Given the description of an element on the screen output the (x, y) to click on. 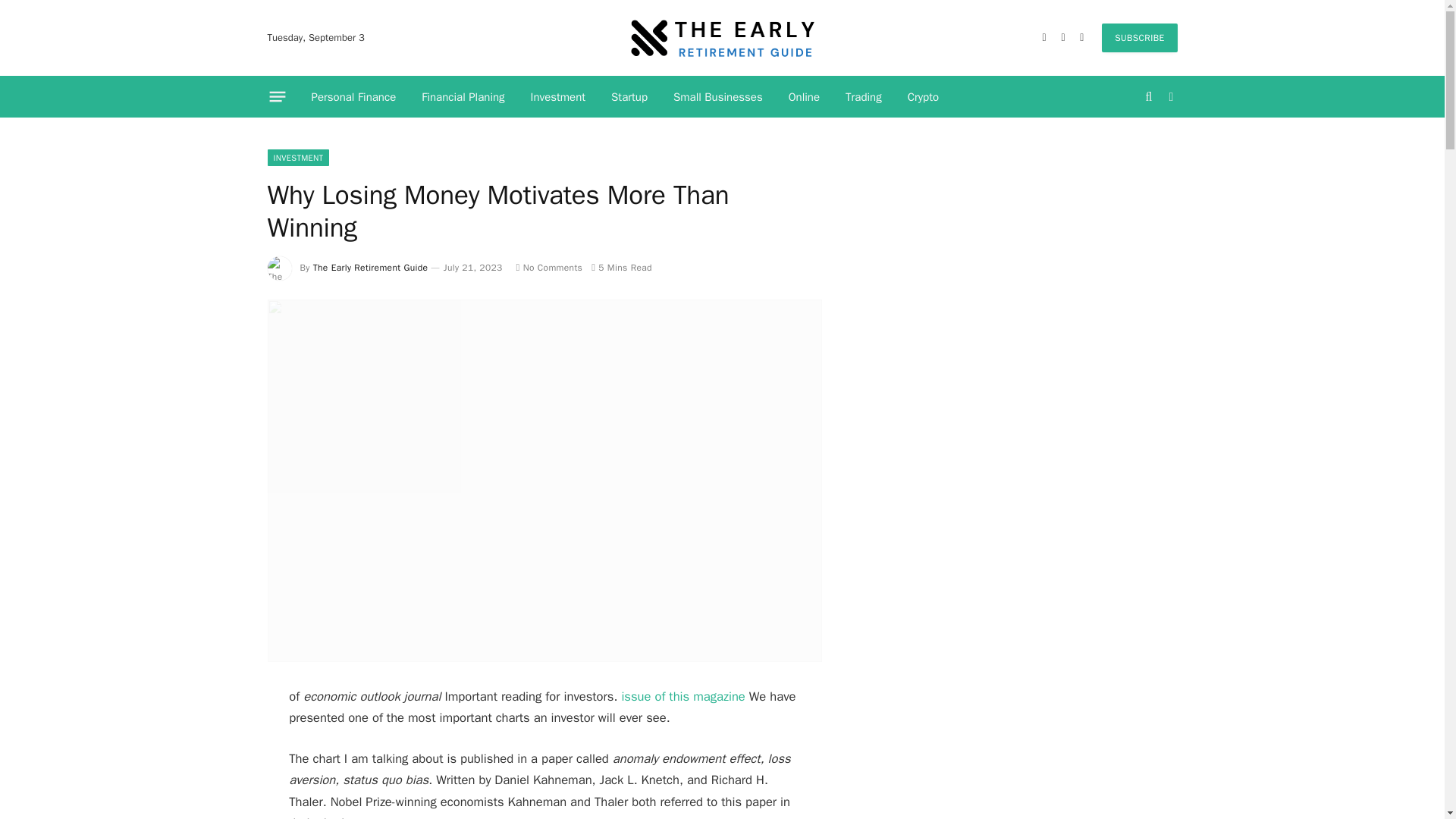
Investment (558, 96)
Trading (863, 96)
The Early Retirement Guide (721, 38)
SUBSCRIBE (1139, 37)
Financial Planing (462, 96)
The Early Retirement Guide (370, 267)
Crypto (923, 96)
Online (804, 96)
Personal Finance (353, 96)
